Given the description of an element on the screen output the (x, y) to click on. 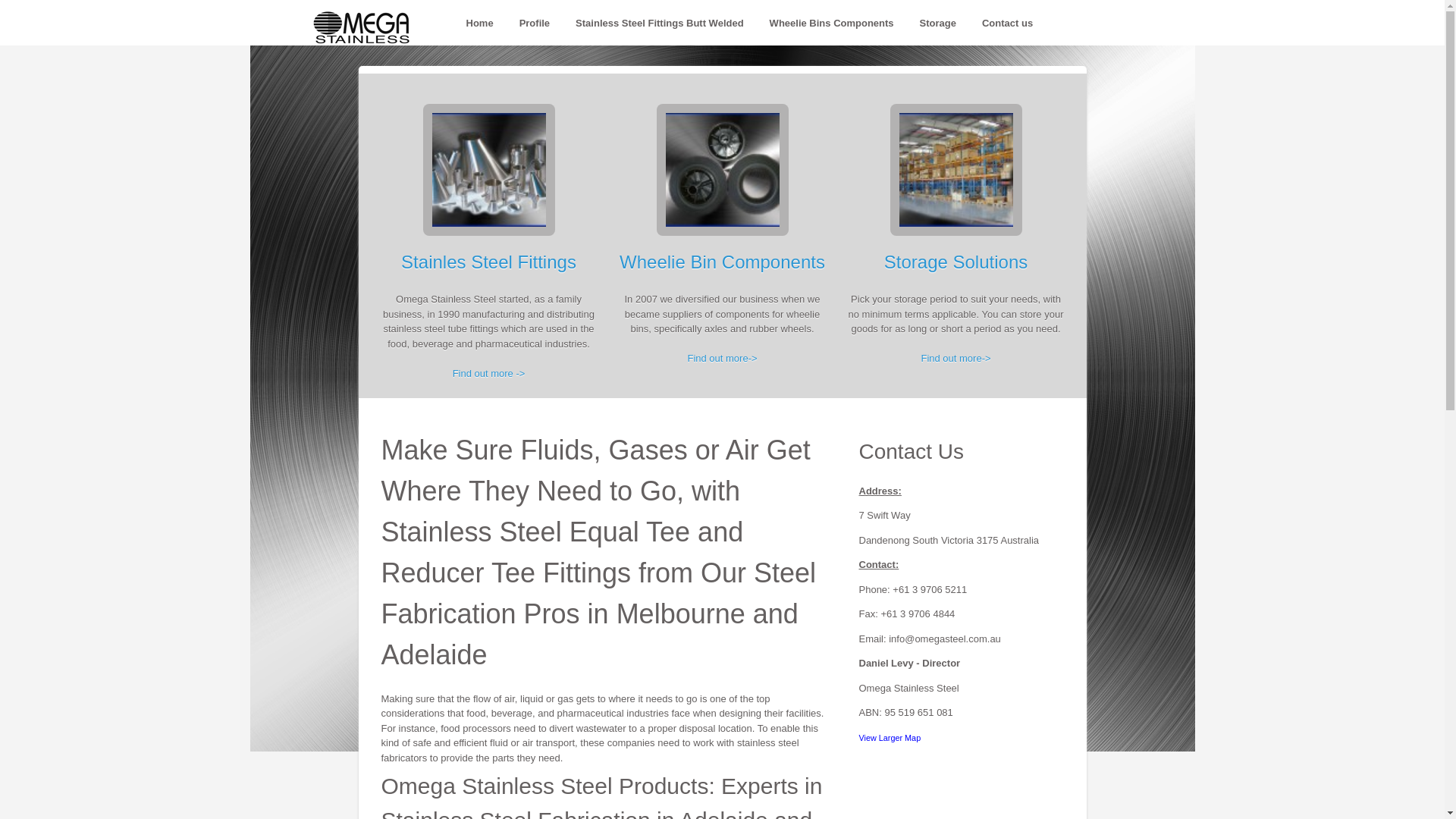
Storage Solutions Element type: text (955, 261)
Find out more-> Element type: text (721, 358)
Wheelie Bin Components Element type: text (722, 261)
Wheelie Bins Components Element type: text (831, 24)
Find out more-> Element type: text (955, 358)
View Larger Map Element type: text (889, 736)
Contact us Element type: text (1006, 24)
Storage Element type: text (937, 24)
Stainles Steel Fittings Element type: text (488, 261)
Find out more -> Element type: text (488, 372)
Profile Element type: text (534, 24)
Stainless Steel Fittings Butt Welded Element type: text (659, 24)
Home Element type: text (479, 24)
